Given the description of an element on the screen output the (x, y) to click on. 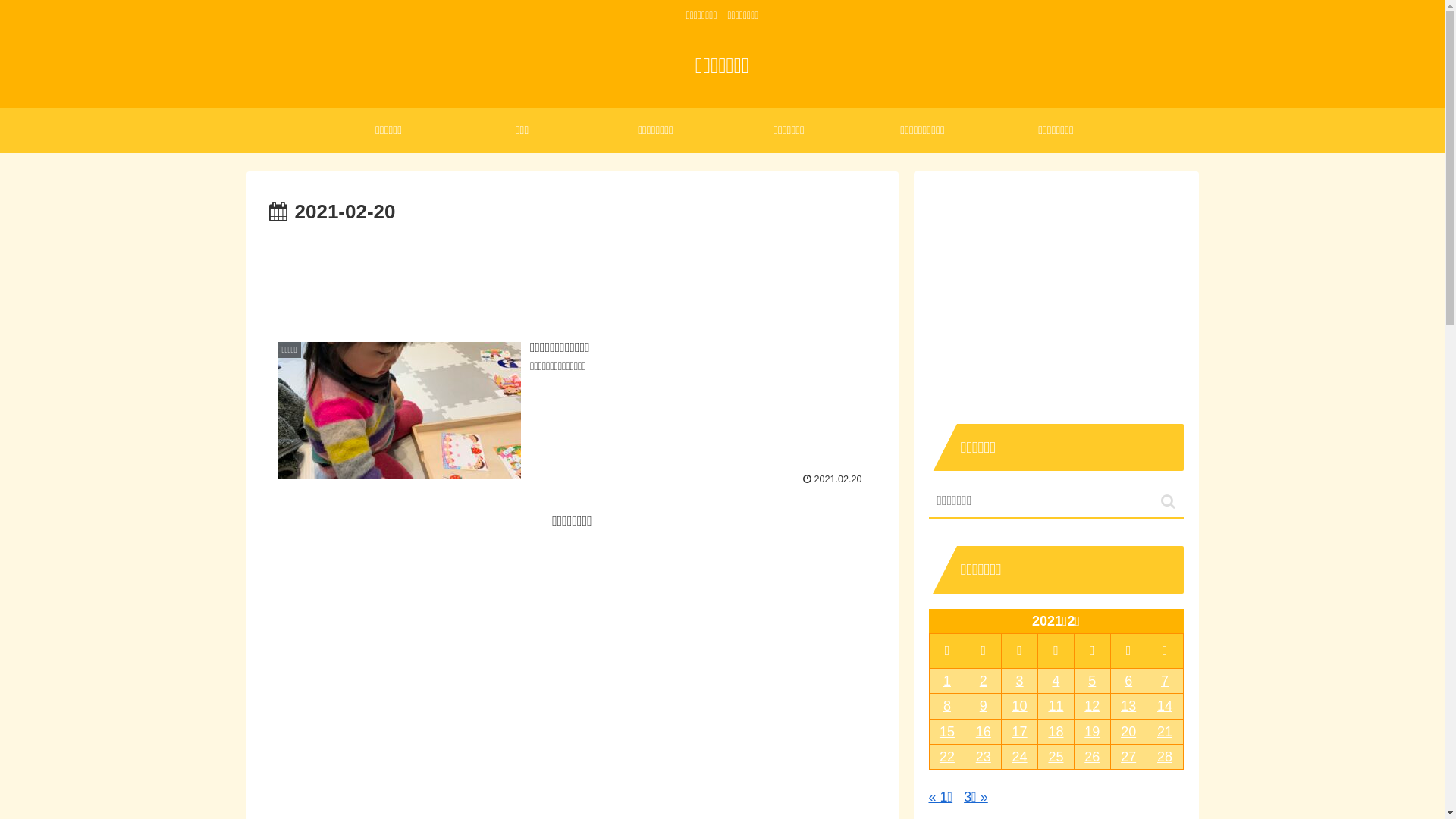
16 Element type: text (983, 731)
28 Element type: text (1165, 756)
6 Element type: text (1128, 680)
2 Element type: text (983, 680)
1 Element type: text (947, 680)
22 Element type: text (947, 756)
23 Element type: text (983, 756)
14 Element type: text (1165, 705)
17 Element type: text (1019, 731)
18 Element type: text (1055, 731)
3 Element type: text (1019, 680)
19 Element type: text (1092, 731)
12 Element type: text (1092, 705)
Advertisement Element type: hover (571, 639)
Advertisement Element type: hover (571, 271)
10 Element type: text (1019, 705)
4 Element type: text (1055, 680)
24 Element type: text (1019, 756)
15 Element type: text (947, 731)
21 Element type: text (1165, 731)
5 Element type: text (1092, 680)
25 Element type: text (1055, 756)
27 Element type: text (1128, 756)
13 Element type: text (1128, 705)
7 Element type: text (1165, 680)
9 Element type: text (983, 705)
11 Element type: text (1055, 705)
20 Element type: text (1128, 731)
Advertisement Element type: hover (1055, 292)
8 Element type: text (947, 705)
26 Element type: text (1092, 756)
